Given the description of an element on the screen output the (x, y) to click on. 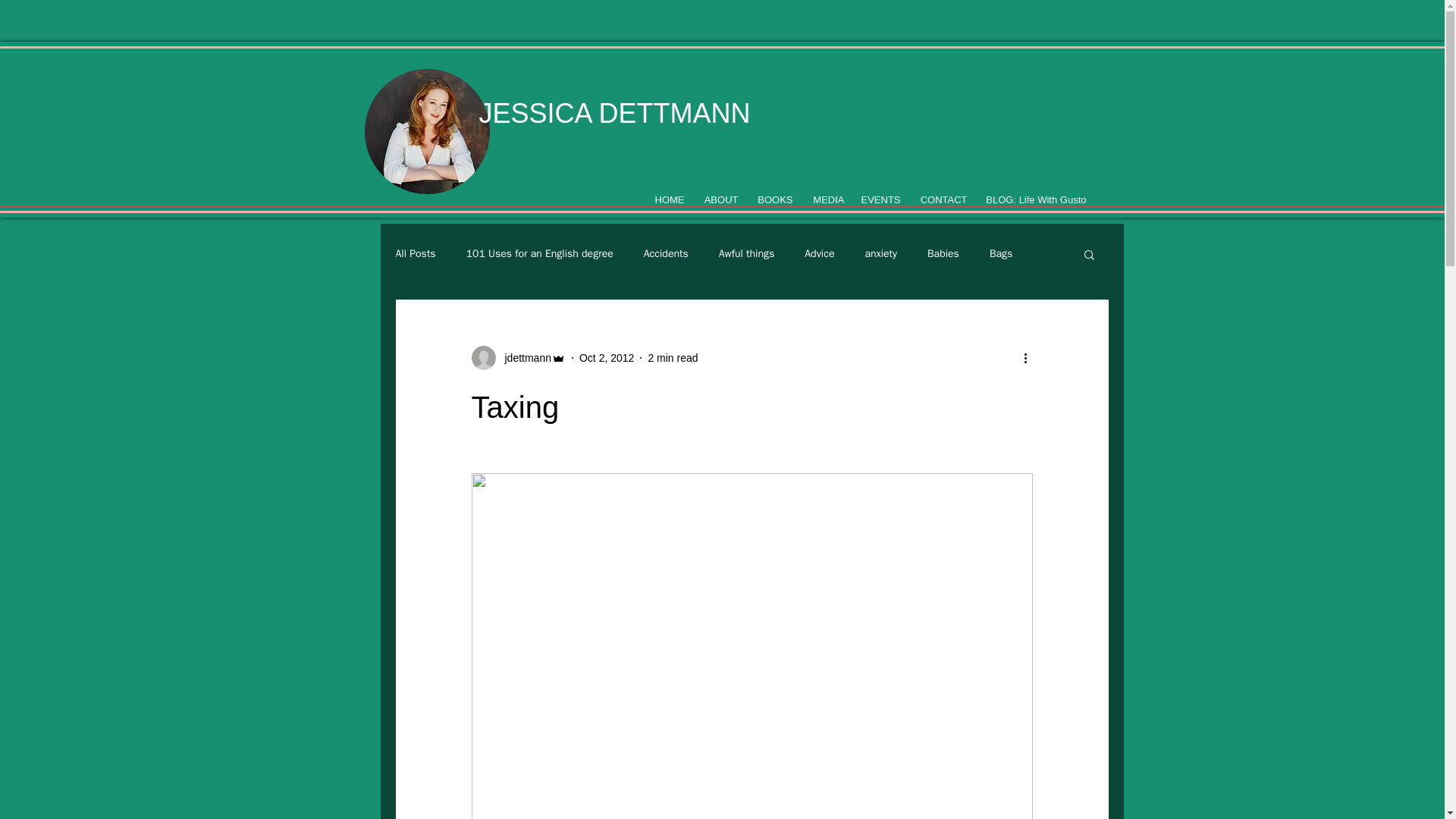
EVENTS (879, 199)
101 Uses for an English degree (538, 254)
Awful things (746, 254)
All Posts (415, 254)
Bags (1001, 254)
Advice (819, 254)
BLOG: Life With Gusto (1034, 199)
anxiety (880, 254)
MEDIA (825, 199)
jdettmann (523, 358)
